Given the description of an element on the screen output the (x, y) to click on. 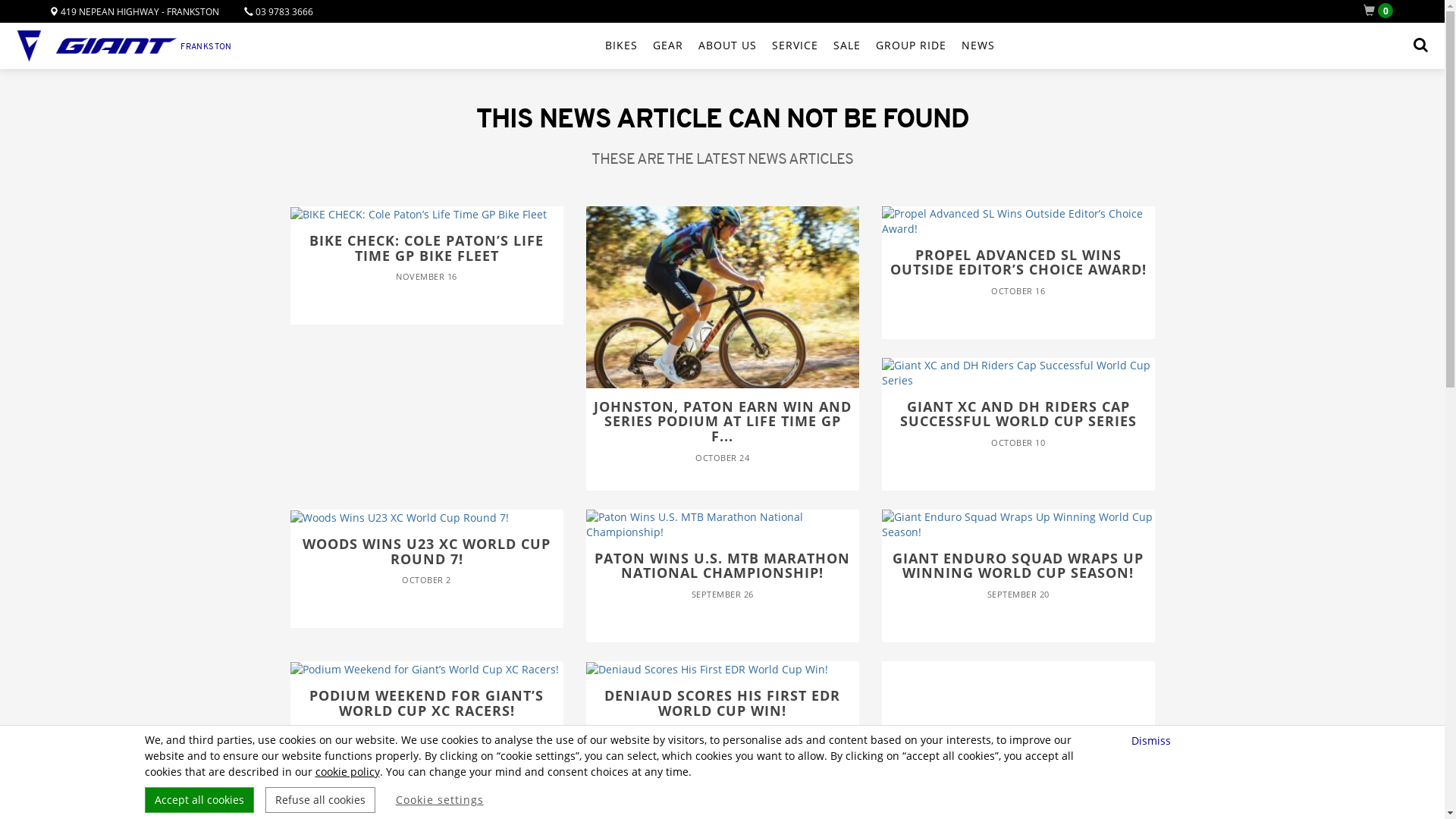
GEAR Element type: text (667, 45)
WOODS WINS U23 XC WORLD CUP ROUND 7!
OCTOBER 2 Element type: text (426, 561)
0 item(s) in cart
0
Total amount Element type: text (1381, 10)
Cookie settings Element type: text (439, 799)
ABOUT US Element type: text (727, 45)
cookie policy Element type: text (347, 771)
Accept all cookies Element type: text (198, 799)
Dismiss Element type: text (1152, 740)
DENIAUD SCORES HIS FIRST EDR WORLD CUP WIN!
SEPTEMBER 1 Element type: text (721, 712)
Refuse all cookies Element type: text (320, 799)
SALE Element type: text (846, 45)
SERVICE Element type: text (794, 45)
GROUP RIDE Element type: text (910, 45)
NEWS Element type: text (977, 45)
BIKES Element type: text (621, 45)
